Given the description of an element on the screen output the (x, y) to click on. 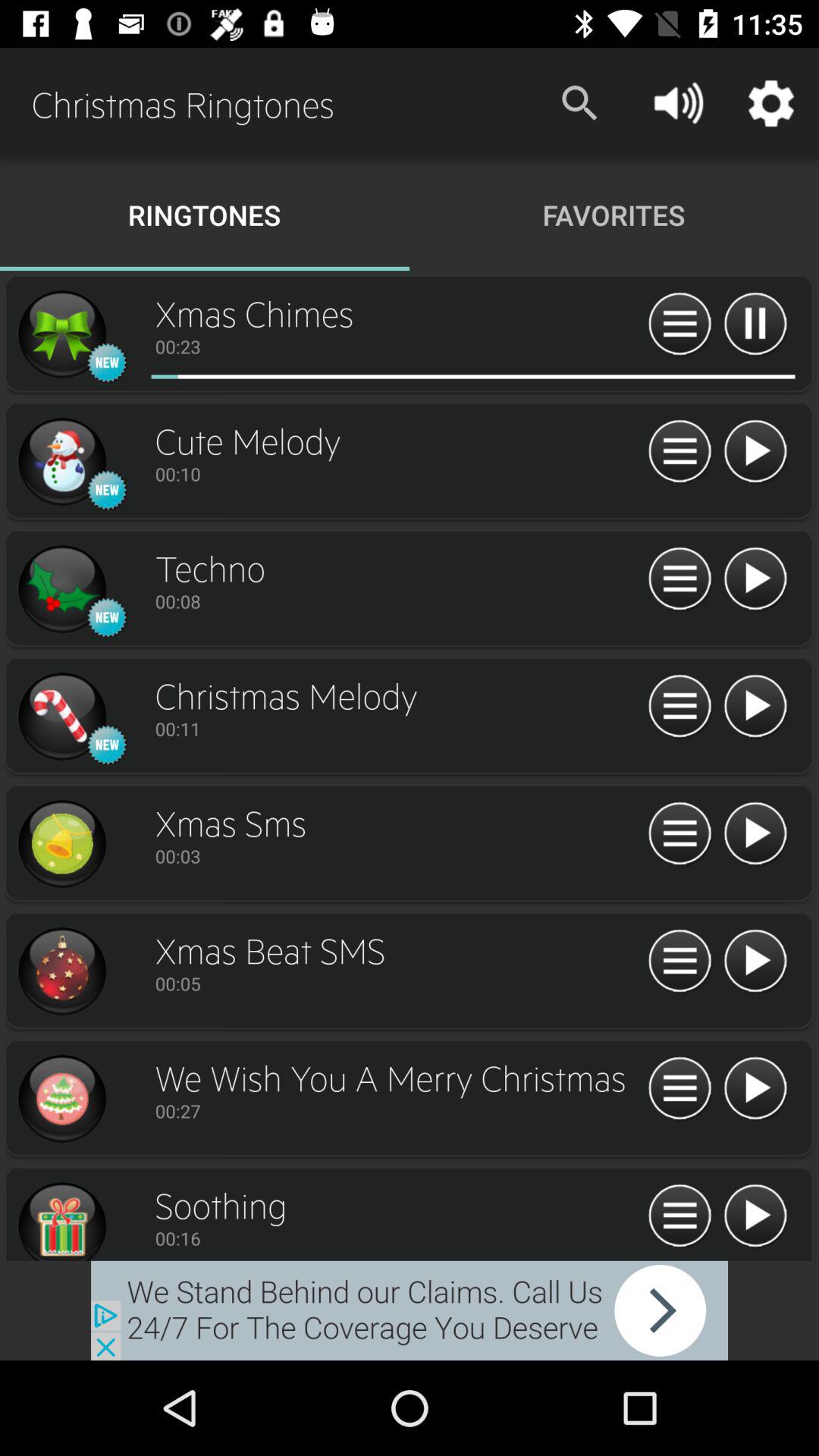
open profile (61, 716)
